Given the description of an element on the screen output the (x, y) to click on. 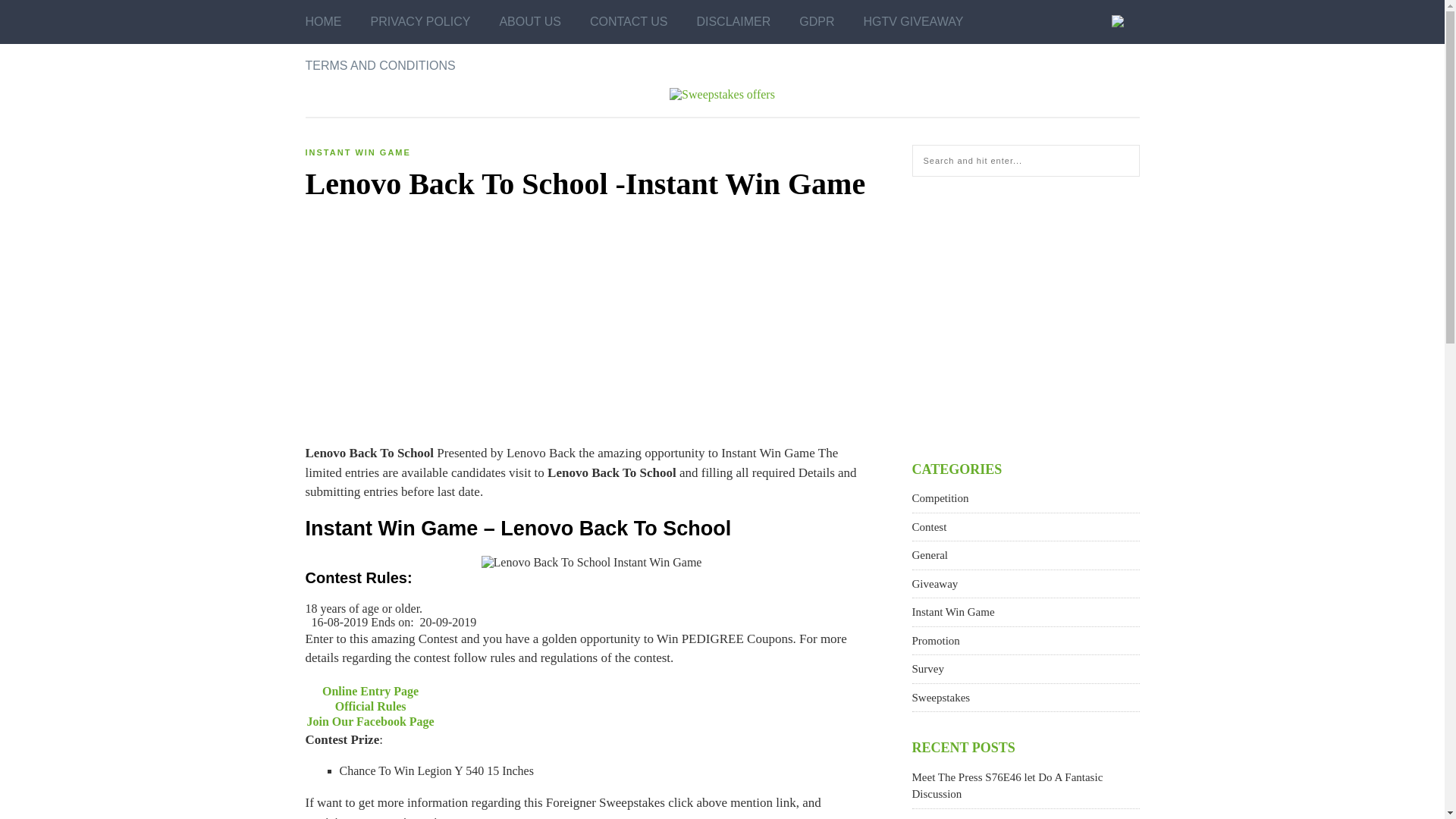
Official Rules (370, 705)
TERMS AND CONDITIONS (379, 65)
Join Our Facebook Page (369, 720)
ABOUT US (529, 22)
View all posts in Instant Win Game (357, 152)
CONTACT US (628, 22)
HGTV GIVEAWAY (912, 22)
DISCLAIMER (732, 22)
PRIVACY POLICY (419, 22)
INSTANT WIN GAME (357, 152)
